Given the description of an element on the screen output the (x, y) to click on. 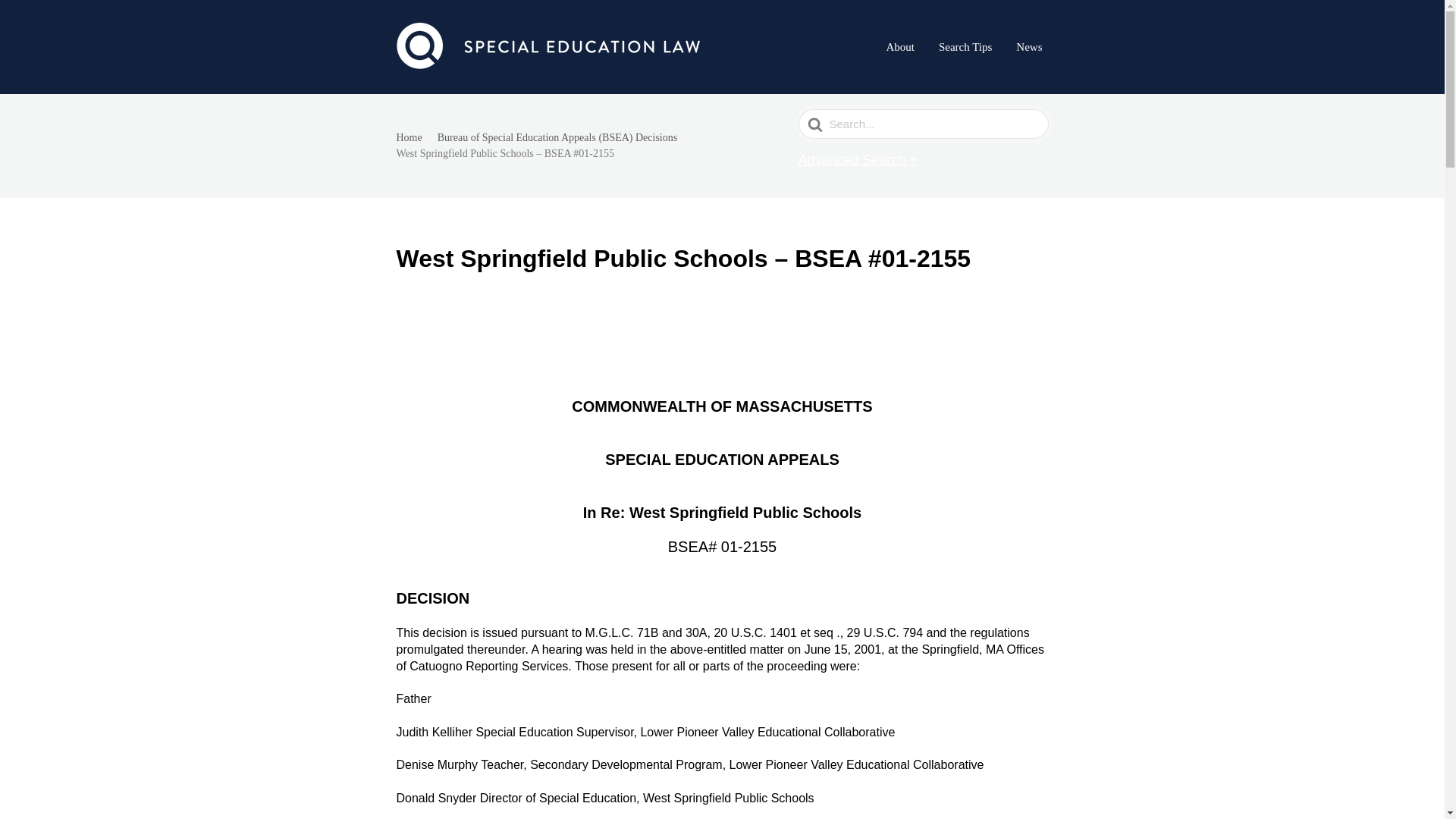
News (1029, 46)
Home (414, 137)
About (899, 46)
Search Tips (965, 46)
